Given the description of an element on the screen output the (x, y) to click on. 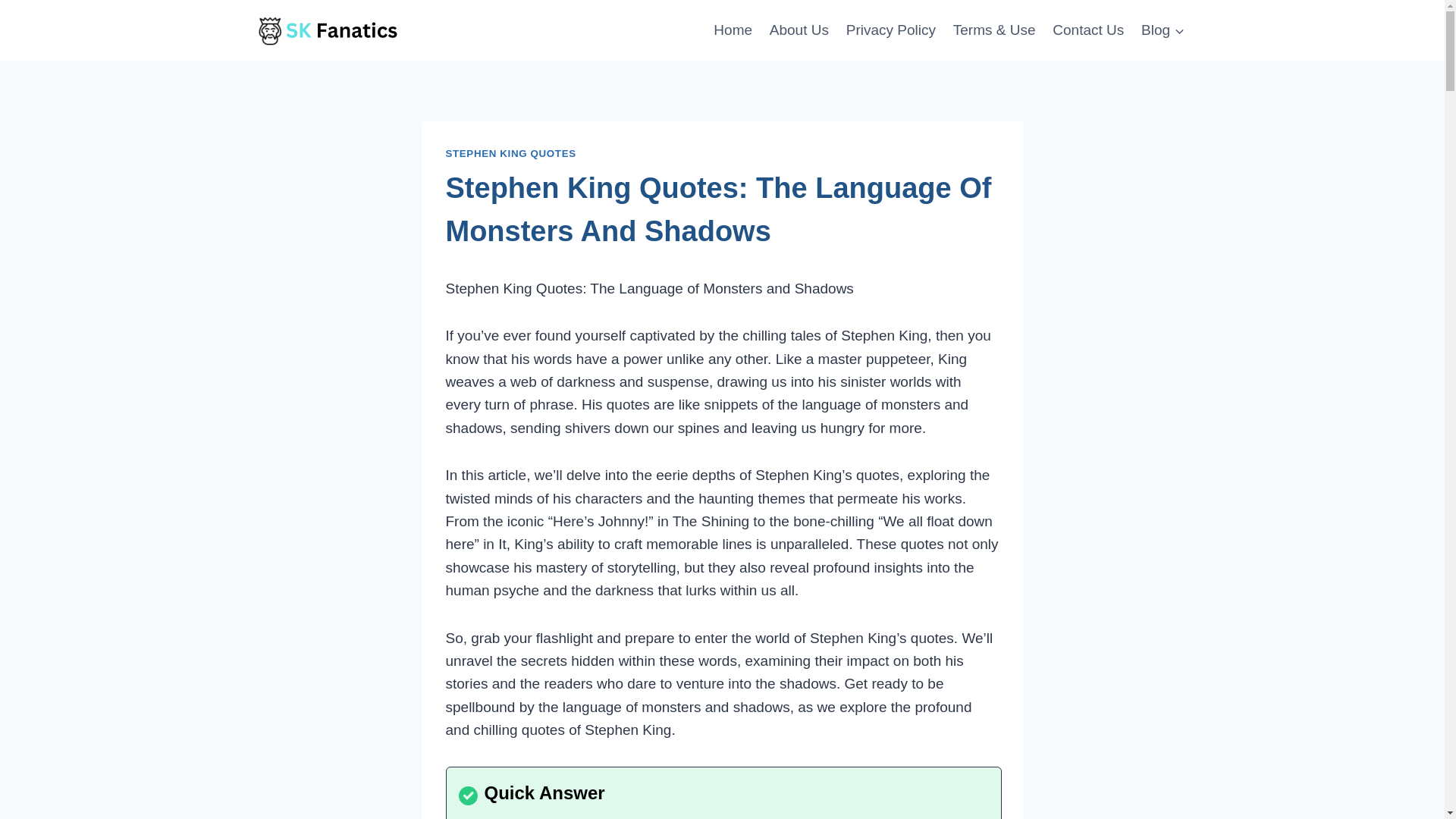
About Us (798, 29)
Blog (1162, 29)
Contact Us (1087, 29)
Privacy Policy (890, 29)
Home (732, 29)
STEPHEN KING QUOTES (510, 153)
